Given the description of an element on the screen output the (x, y) to click on. 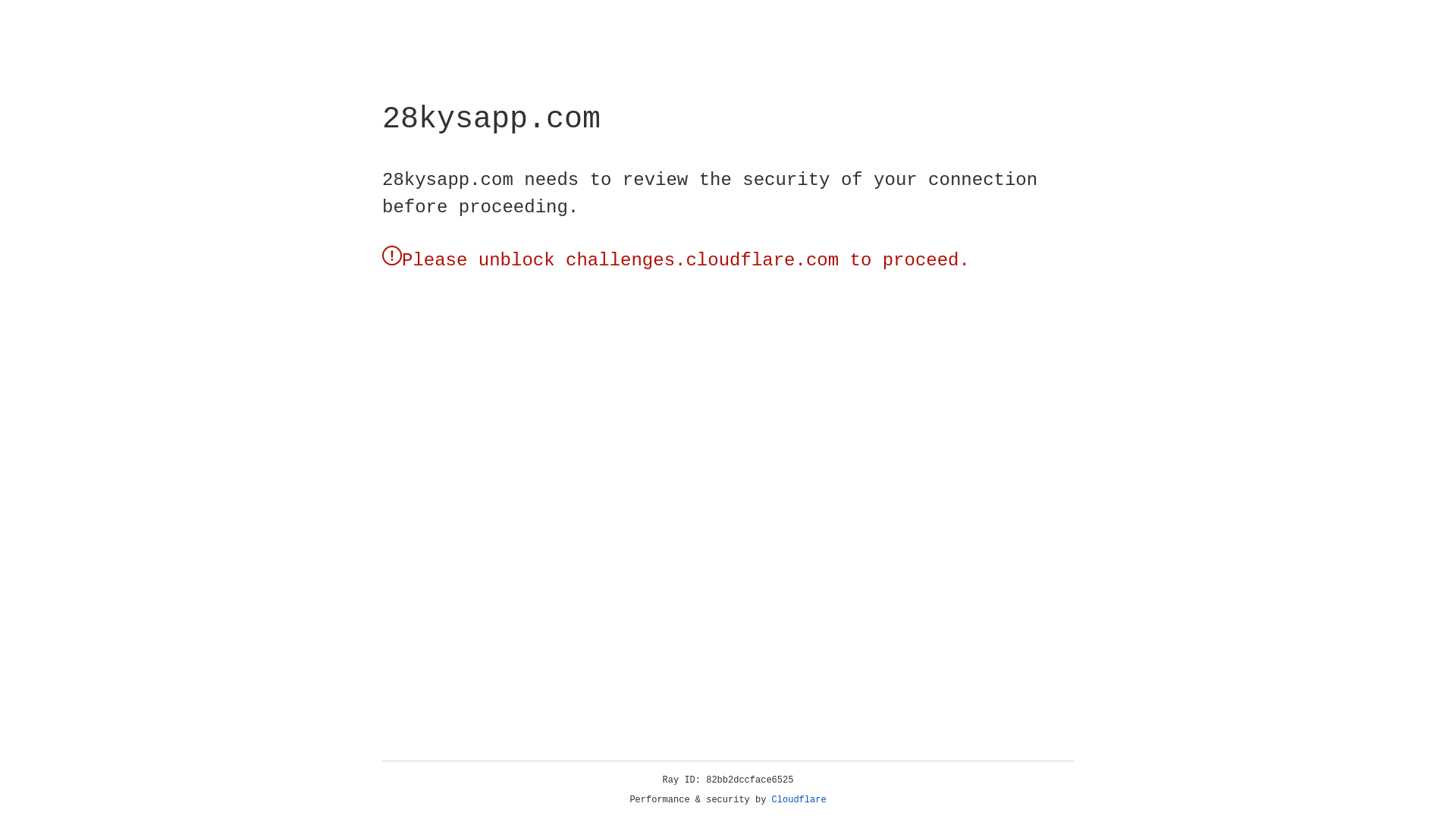
Cloudflare Element type: text (798, 799)
